Given the description of an element on the screen output the (x, y) to click on. 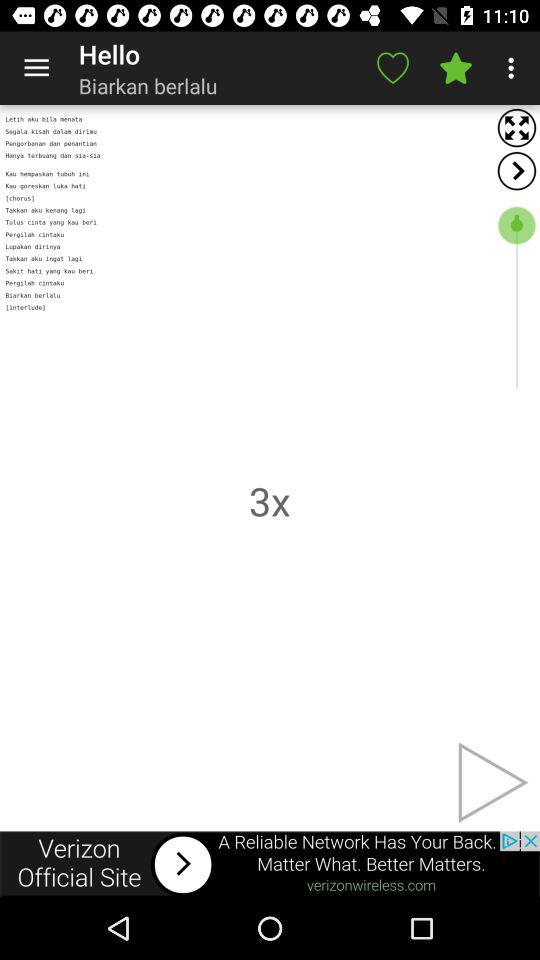
click on the heart symbol (392, 68)
